Given the description of an element on the screen output the (x, y) to click on. 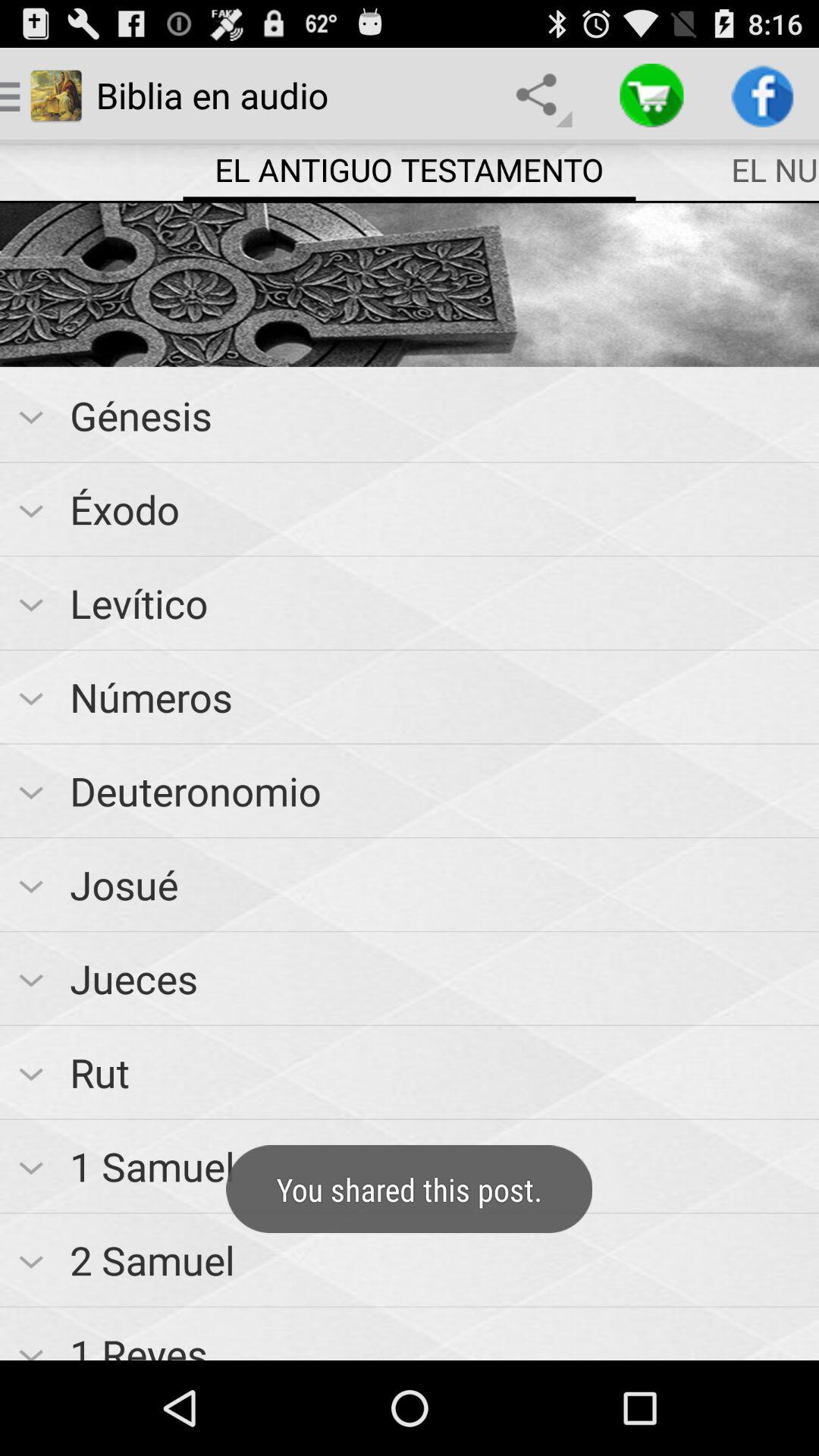
launch item to the right of biblia en audio icon (540, 95)
